Given the description of an element on the screen output the (x, y) to click on. 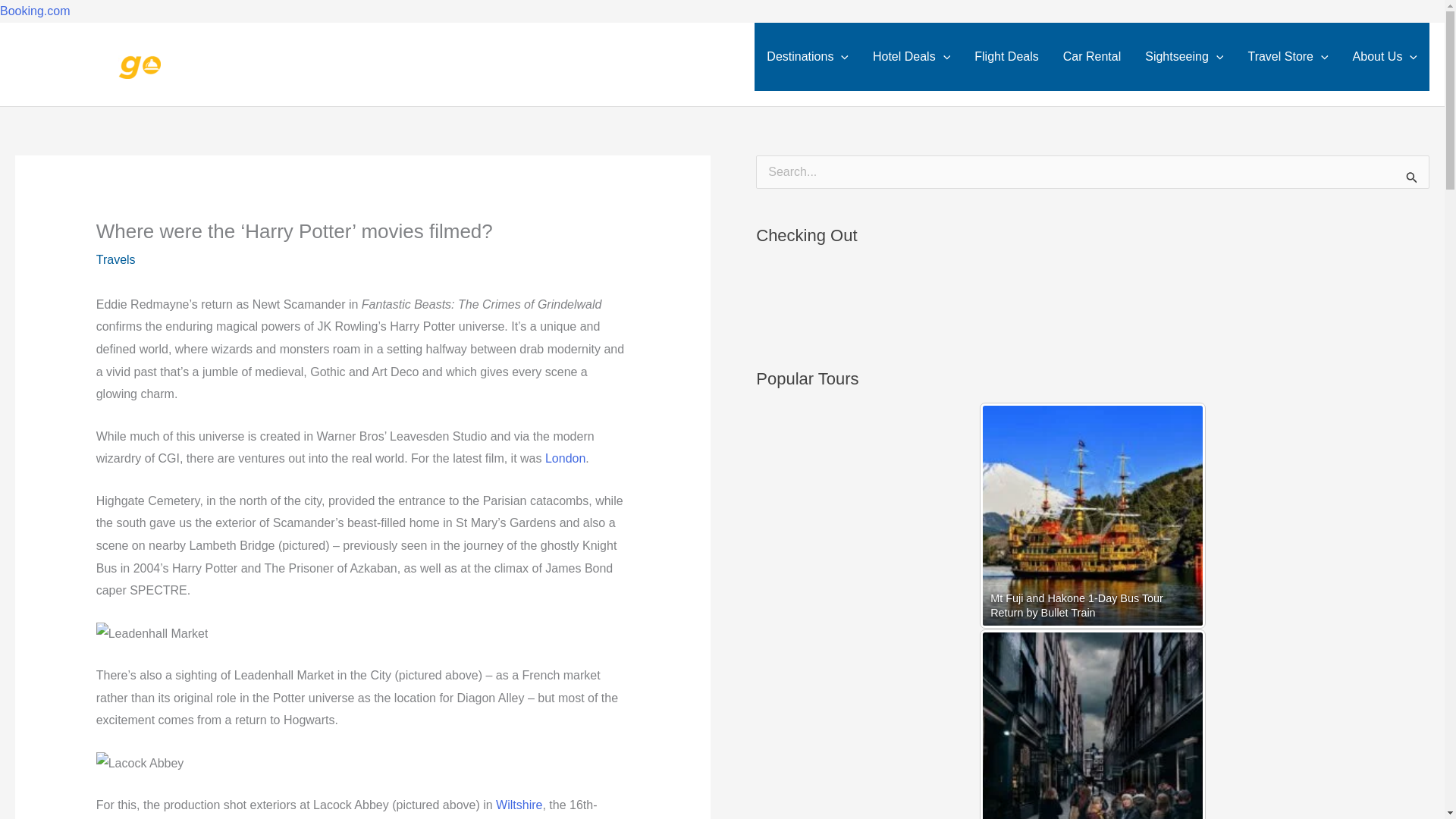
Booking.com (34, 10)
Hotel Deals (911, 56)
Car Rental (1091, 56)
Flight Deals (1005, 56)
Destinations (807, 56)
Sightseeing (1183, 56)
Travel Store (1286, 56)
About Us (1384, 56)
